Given the description of an element on the screen output the (x, y) to click on. 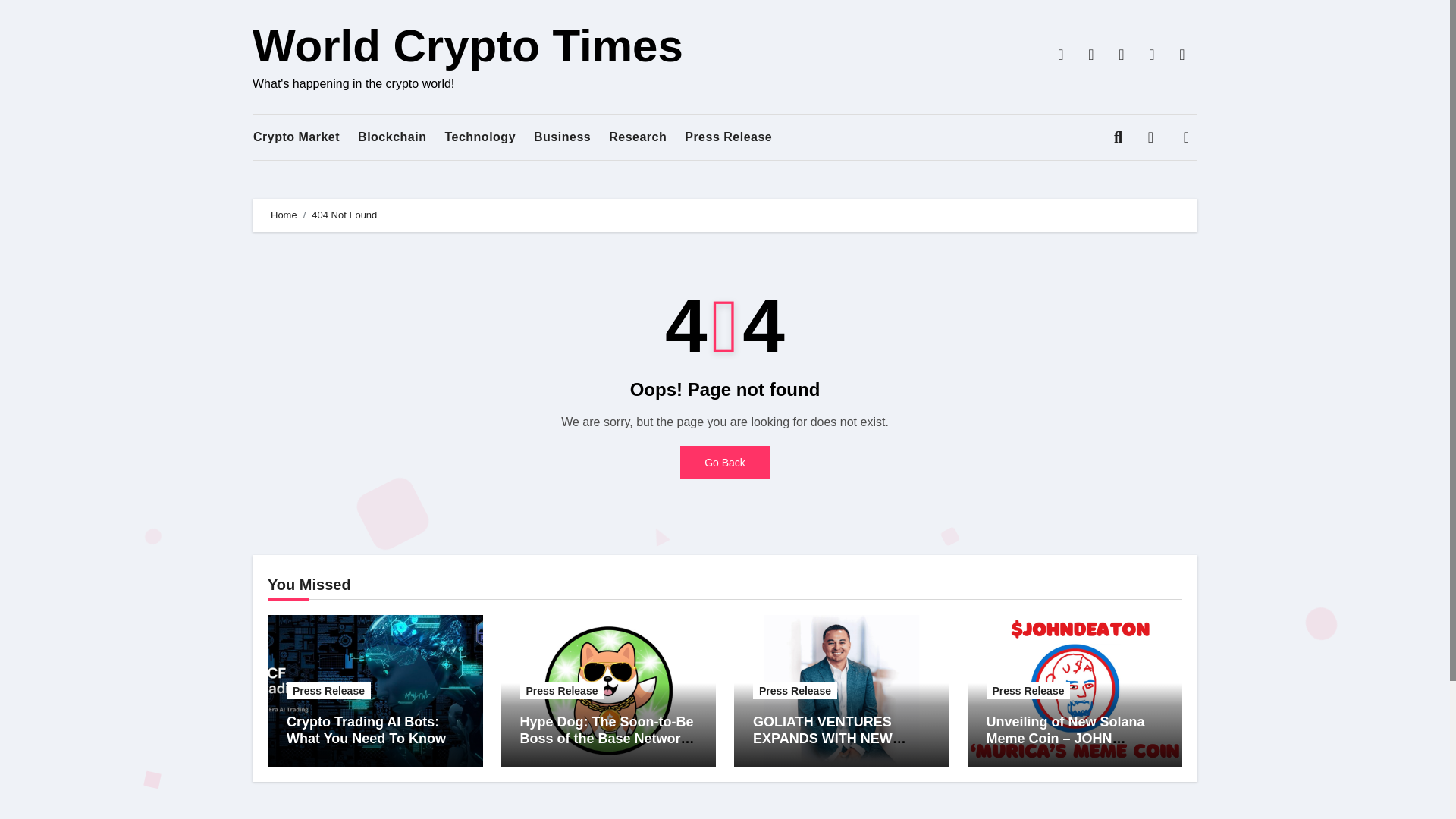
Research (637, 137)
Crypto Market (296, 137)
Press Release (561, 690)
Press Release (727, 137)
Blockchain (392, 137)
Technology (479, 137)
Press Release (328, 690)
Technology (479, 137)
Press Release (727, 137)
World Crypto Times (466, 45)
Business (562, 137)
